Given the description of an element on the screen output the (x, y) to click on. 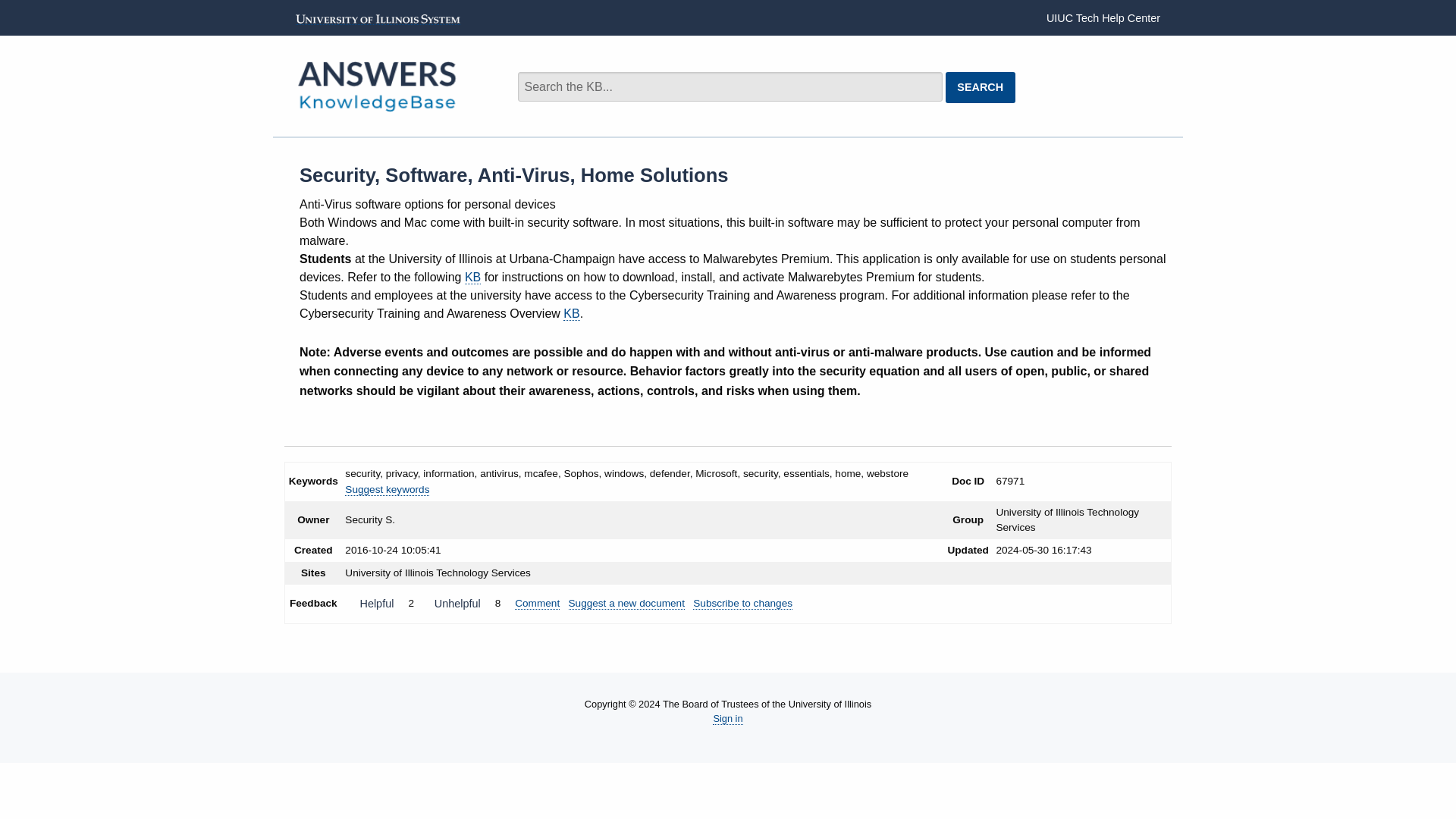
Sign in (727, 718)
KB (472, 277)
Subscribe to changes (742, 603)
Search (838, 78)
Comment (537, 603)
Suggest keywords (387, 490)
Helpful (376, 603)
KB (571, 314)
Unhelpful (457, 603)
SEARCH (979, 87)
SEARCH (979, 87)
Suggest a new document (626, 603)
Cybersecurity Training and Awareness Overview (571, 314)
Malwarebytes Premimum for Students (472, 277)
SEARCH (979, 87)
